Given the description of an element on the screen output the (x, y) to click on. 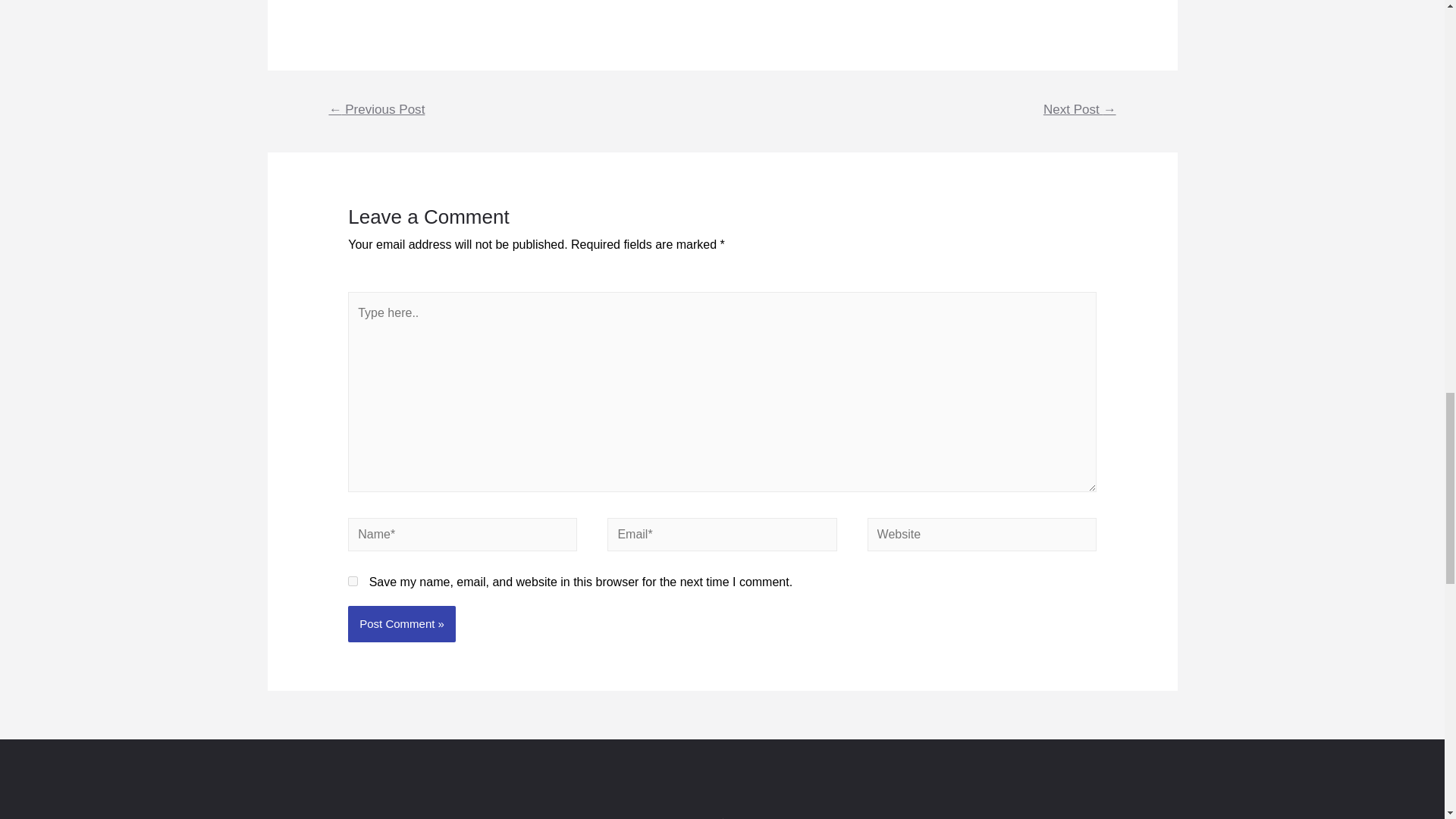
yes (352, 581)
